Given the description of an element on the screen output the (x, y) to click on. 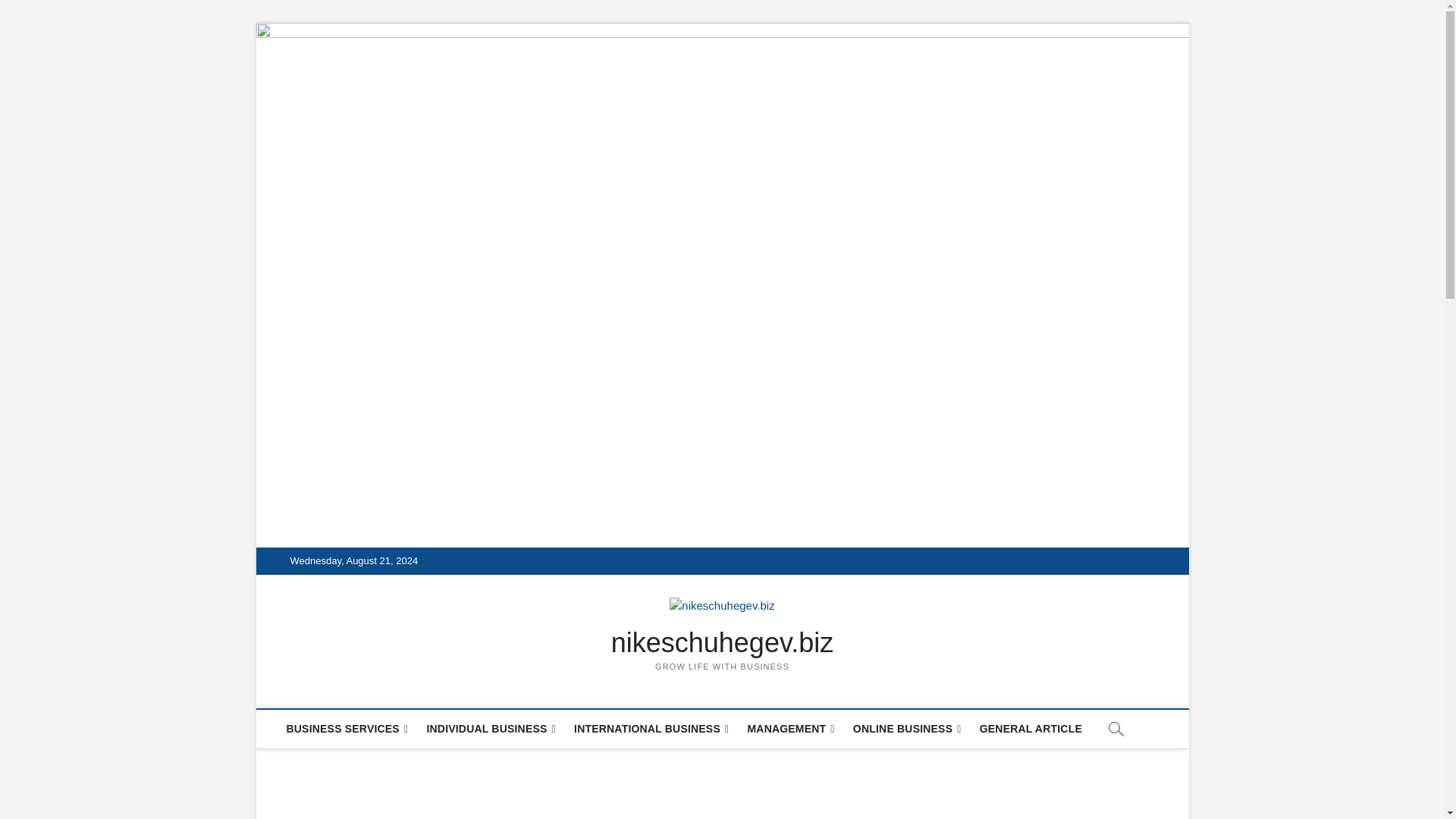
GENERAL ARTICLE (1030, 728)
BUSINESS SERVICES (347, 729)
nikeschuhegev.biz (722, 643)
nikeschuhegev.biz (722, 643)
INDIVIDUAL BUSINESS (490, 729)
MANAGEMENT (790, 729)
ONLINE BUSINESS (907, 729)
INTERNATIONAL BUSINESS (651, 729)
